Given the description of an element on the screen output the (x, y) to click on. 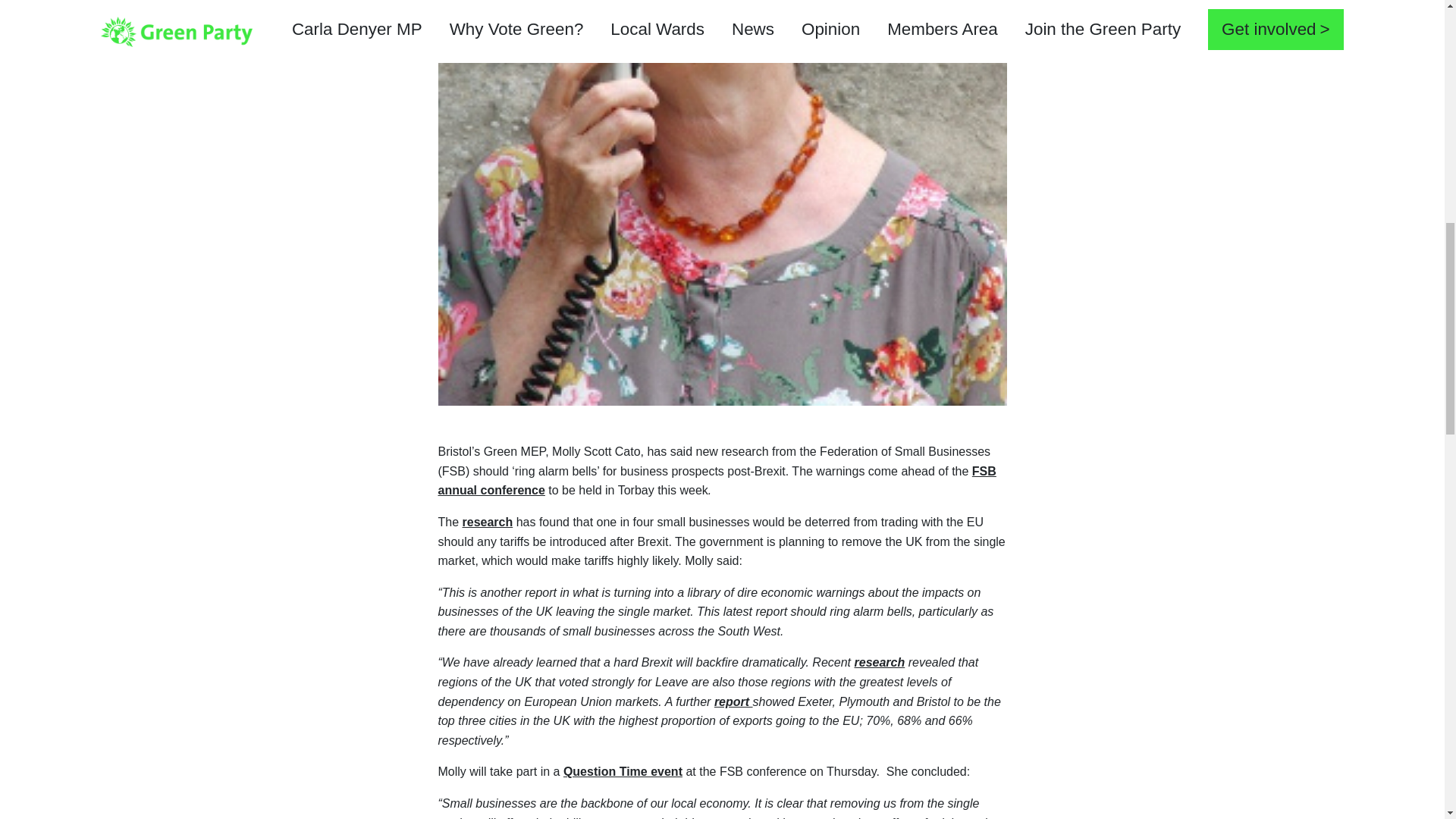
Question Time event (622, 771)
research (878, 662)
research (488, 521)
FSB annual conference (716, 481)
report  (733, 701)
